Given the description of an element on the screen output the (x, y) to click on. 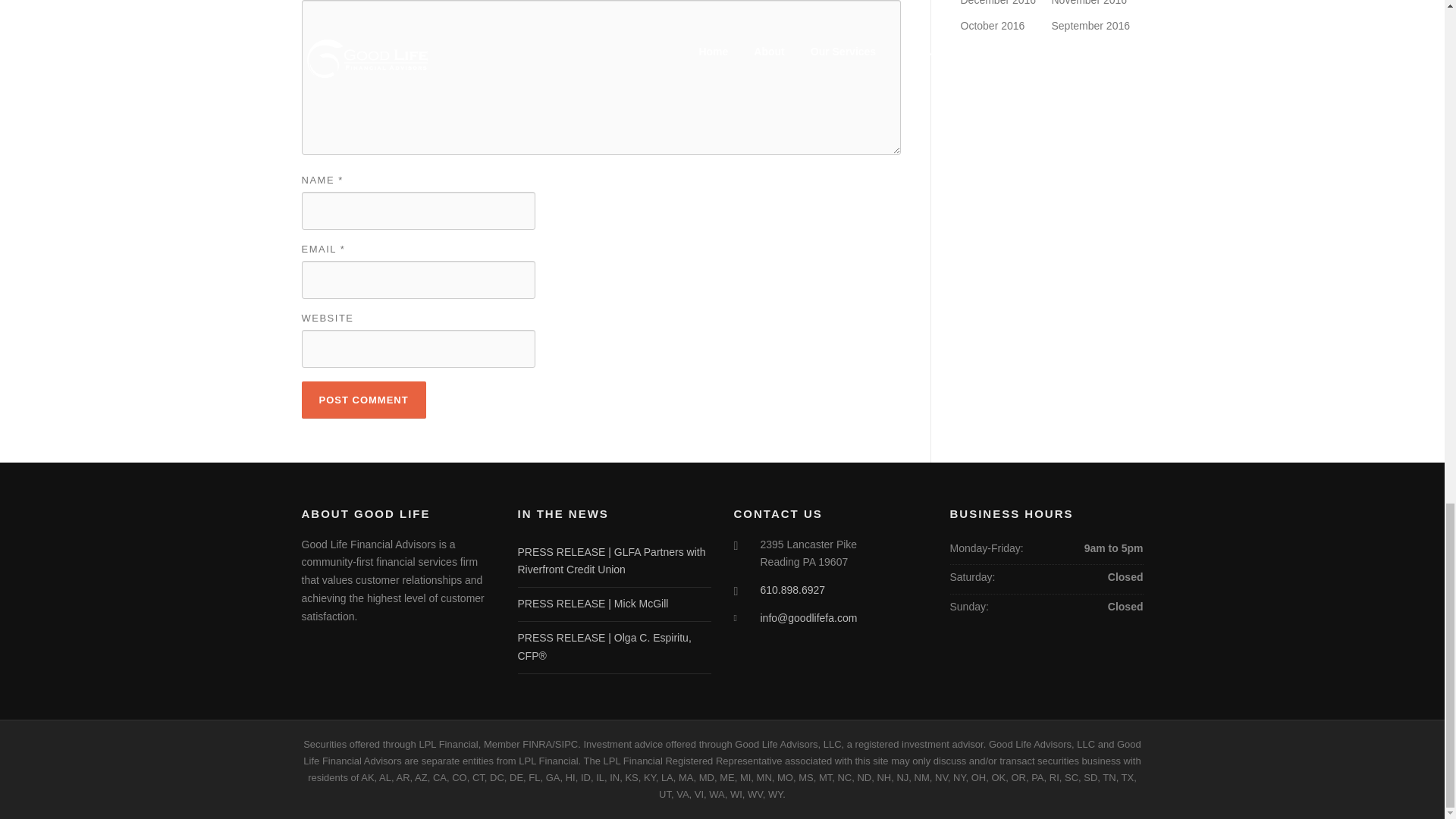
Post Comment (363, 399)
Post Comment (363, 399)
